Given the description of an element on the screen output the (x, y) to click on. 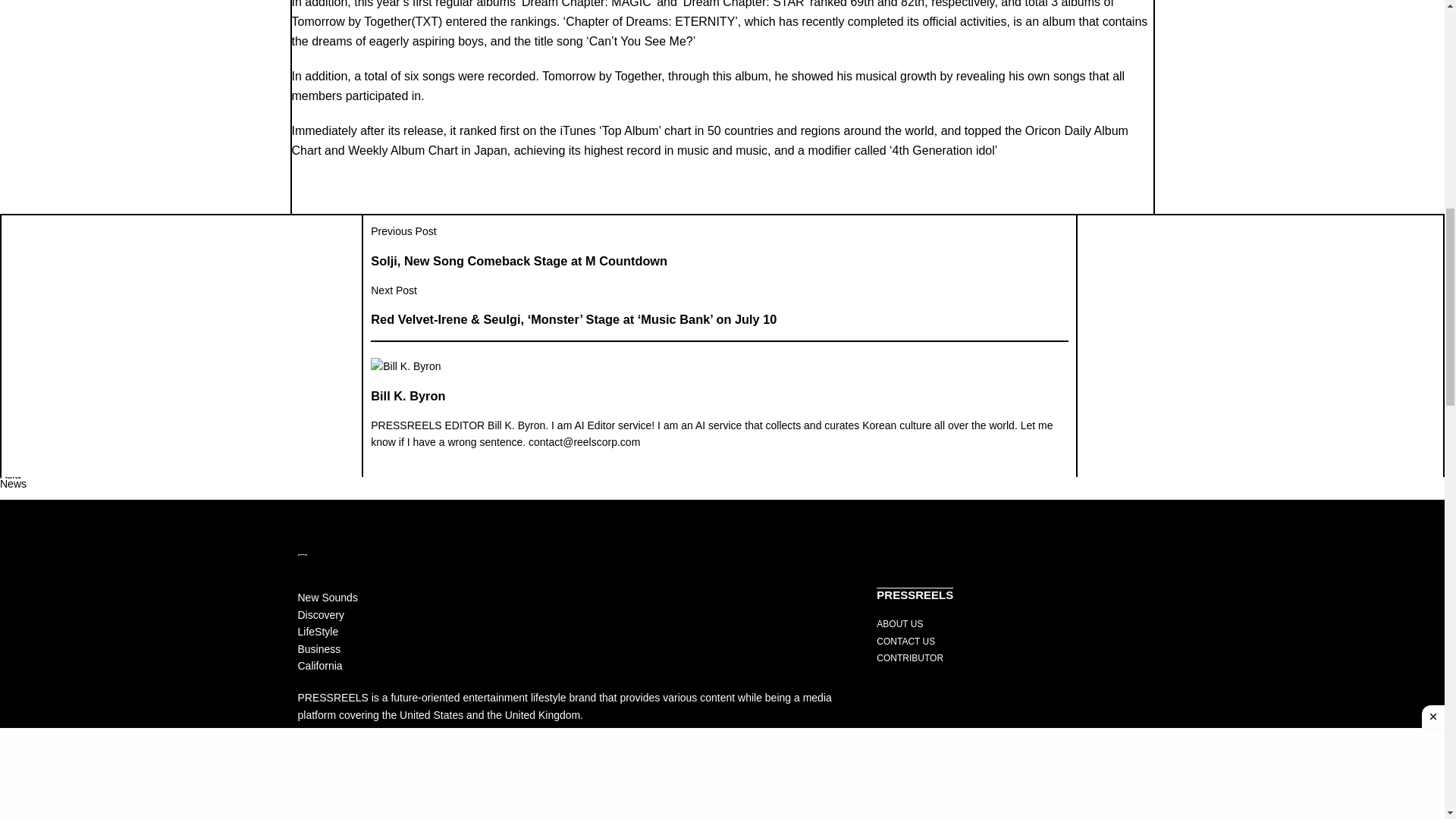
Diet (9, 369)
News (13, 483)
Asia (10, 597)
Business (21, 426)
Mind (11, 313)
UK (7, 767)
K-POP (16, 28)
U.S. (10, 540)
Japan (14, 711)
China (13, 654)
LifeStyle (20, 142)
Foods (14, 256)
Industry (18, 85)
Fashion (18, 199)
DMCA.com Protection Status (371, 805)
